Given the description of an element on the screen output the (x, y) to click on. 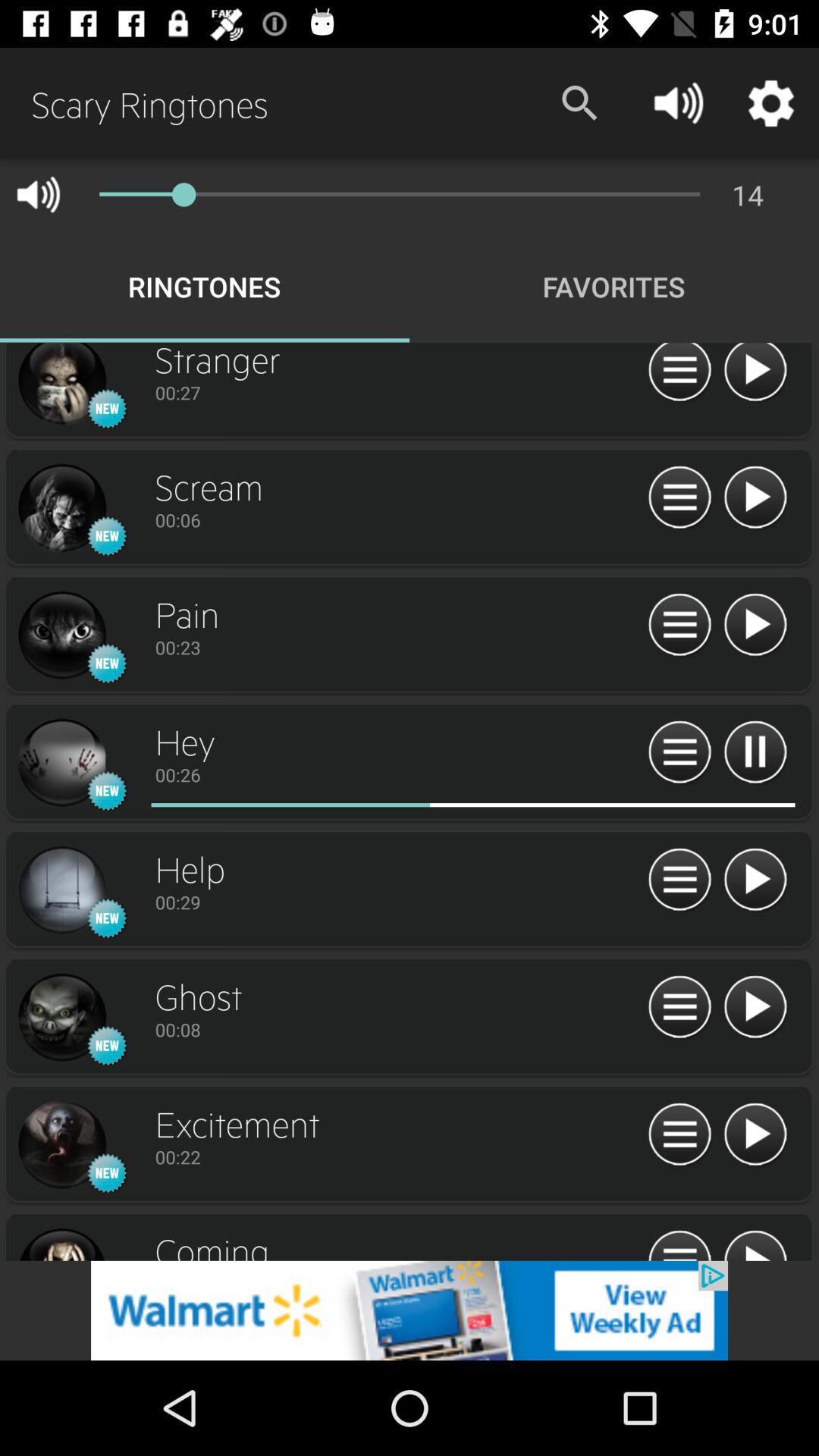
play option (755, 1135)
